Given the description of an element on the screen output the (x, y) to click on. 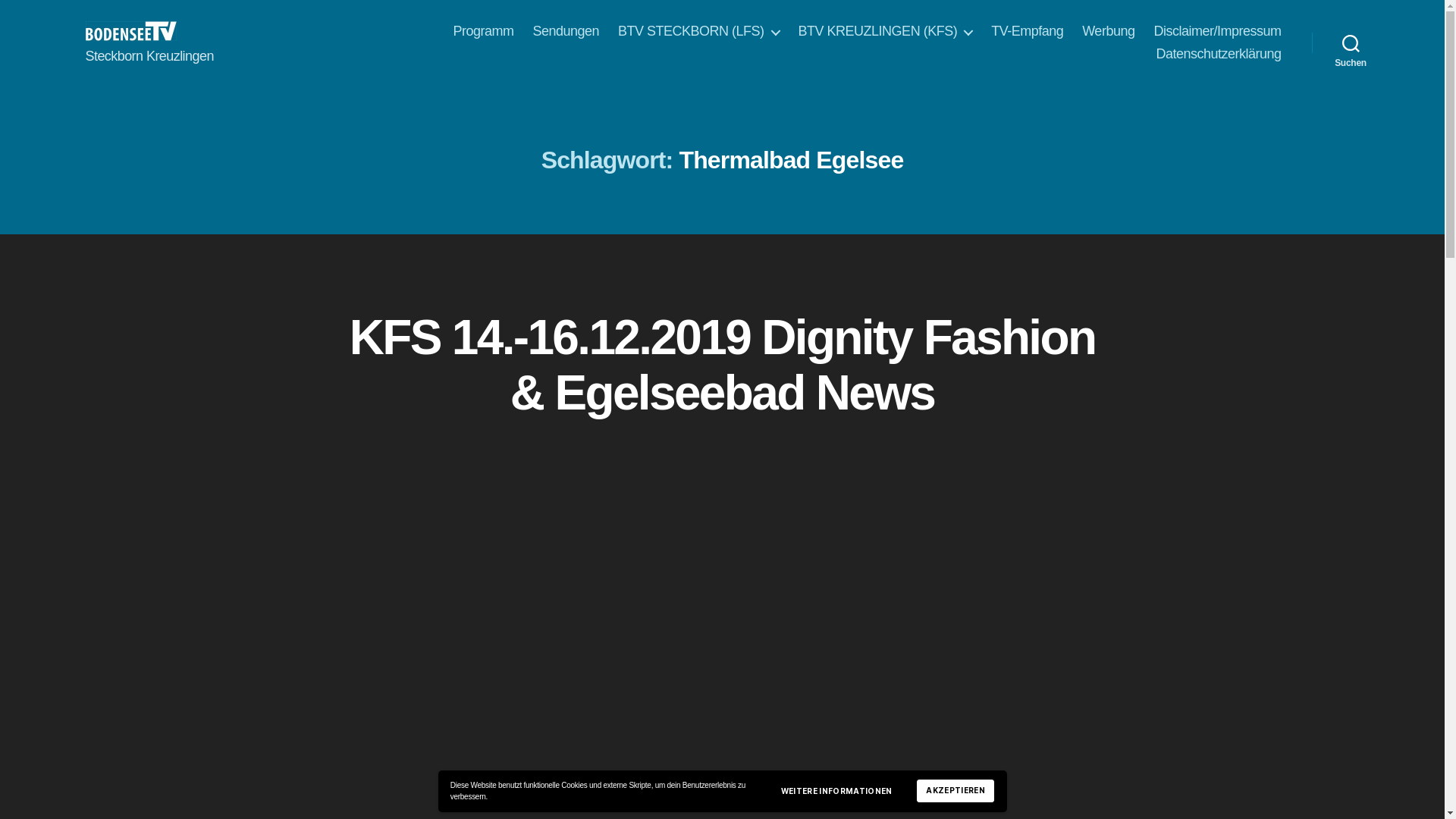
WEITERE INFORMATIONEN Element type: text (836, 790)
Programm Element type: text (482, 31)
Sendungen Element type: text (565, 31)
AKZEPTIEREN Element type: text (955, 790)
Suchen Element type: text (1350, 42)
TV-Empfang Element type: text (1027, 31)
KFS 14.-16.12.2019 Dignity Fashion & Egelseebad News Element type: text (722, 365)
BTV KREUZLINGEN (KFS) Element type: text (885, 31)
BTV STECKBORN (LFS) Element type: text (698, 31)
Disclaimer/Impressum Element type: text (1216, 31)
Werbung Element type: text (1108, 31)
